Given the description of an element on the screen output the (x, y) to click on. 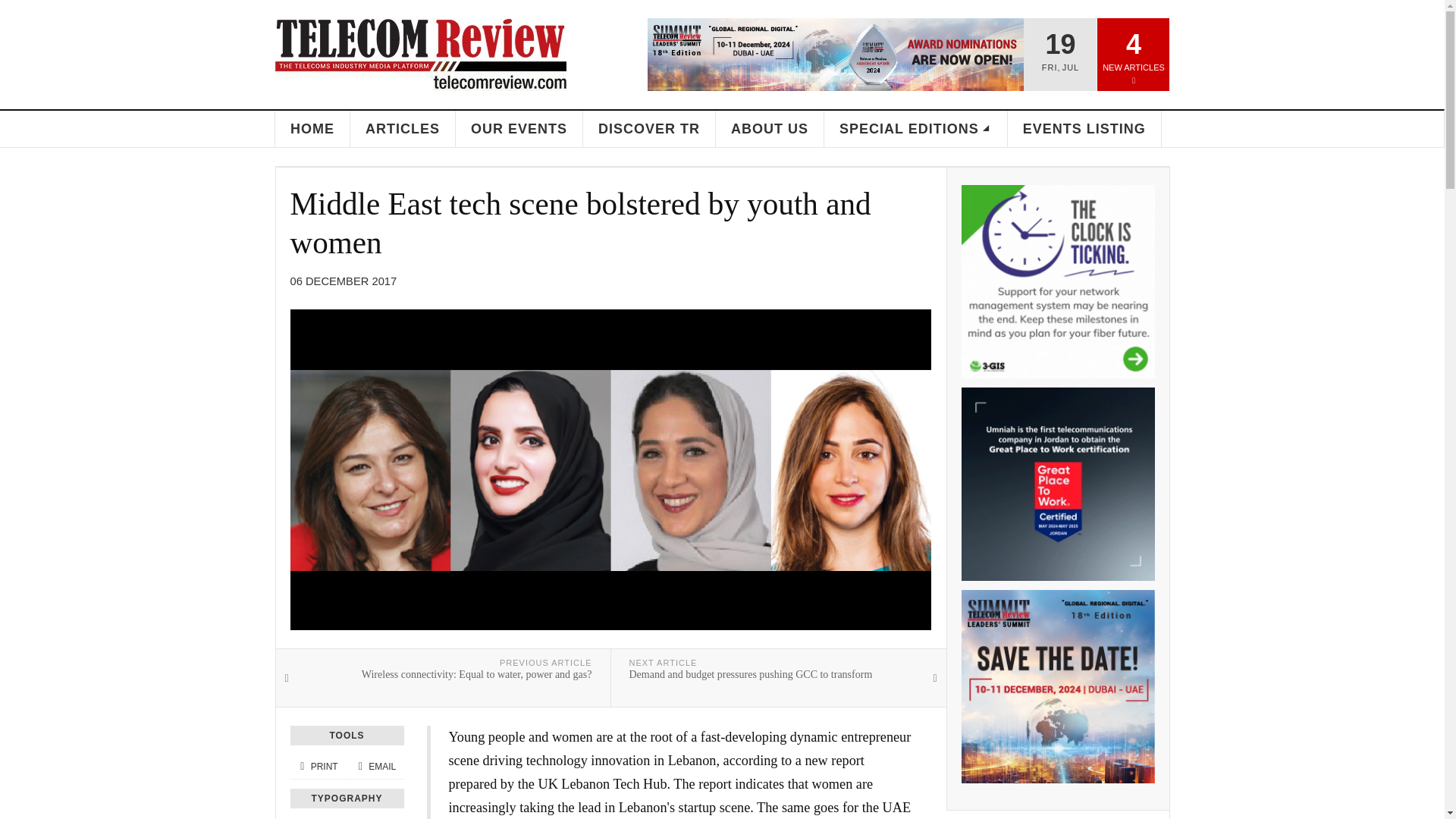
Email (375, 766)
Telecom Review (420, 54)
2024 07 TRS Awards Top WB (835, 54)
Middle East tech scene bolstered by youth and women (579, 223)
2024 03 TRS WB (1057, 685)
2024 07 Umniah Jordan WB (1057, 483)
Published:  (342, 281)
2024 07 3GIS Top Side WB (1057, 281)
HOME (312, 128)
Print (318, 766)
